Given the description of an element on the screen output the (x, y) to click on. 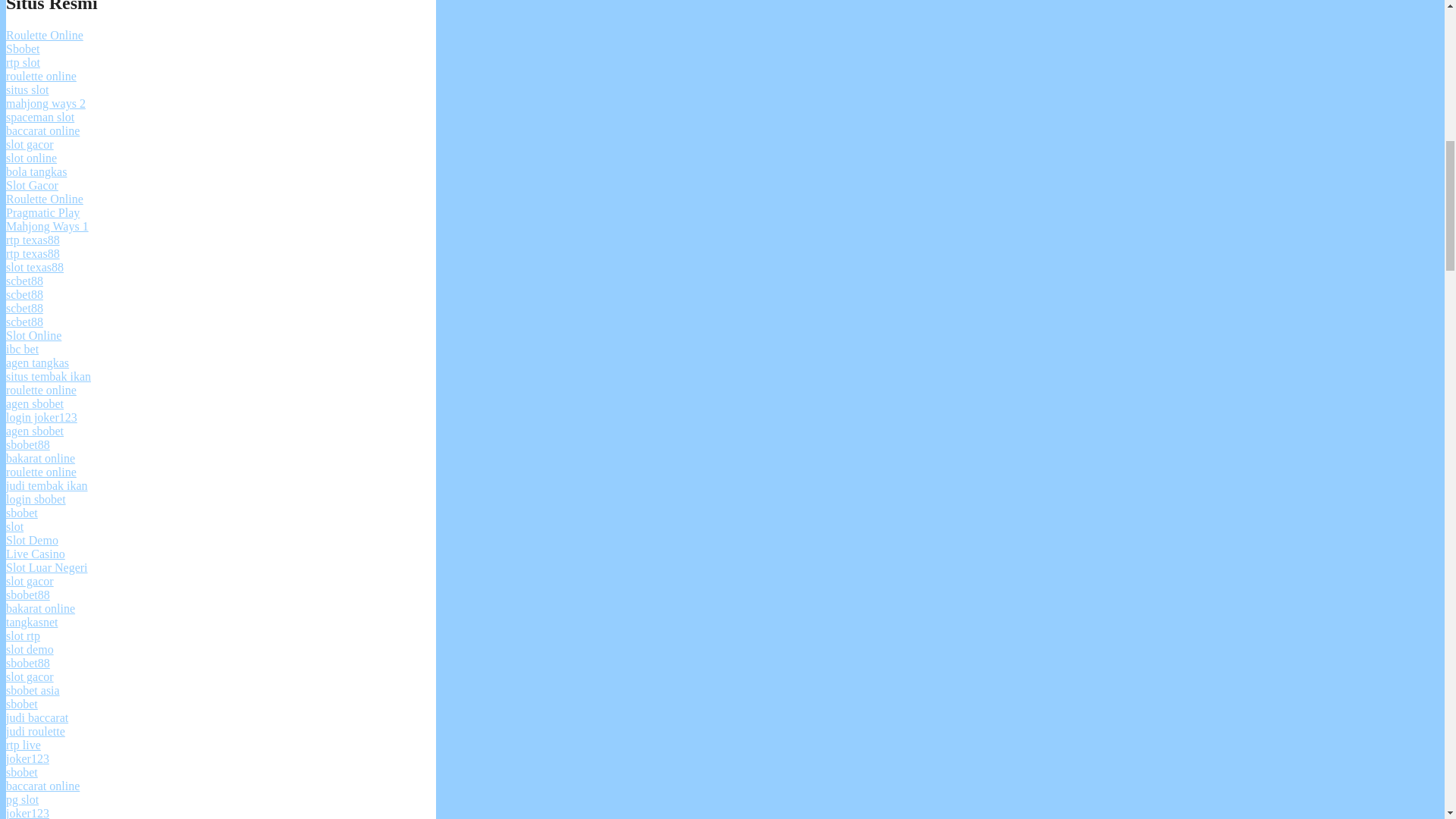
slot texas88 (34, 267)
agen sbobet (34, 431)
mahjong ways 2 (45, 103)
slot online (30, 157)
rtp texas88 (32, 253)
roulette online (41, 390)
scbet88 (24, 308)
Scroll back to top (1406, 720)
Roulette Online (43, 198)
scbet88 (24, 294)
